Given the description of an element on the screen output the (x, y) to click on. 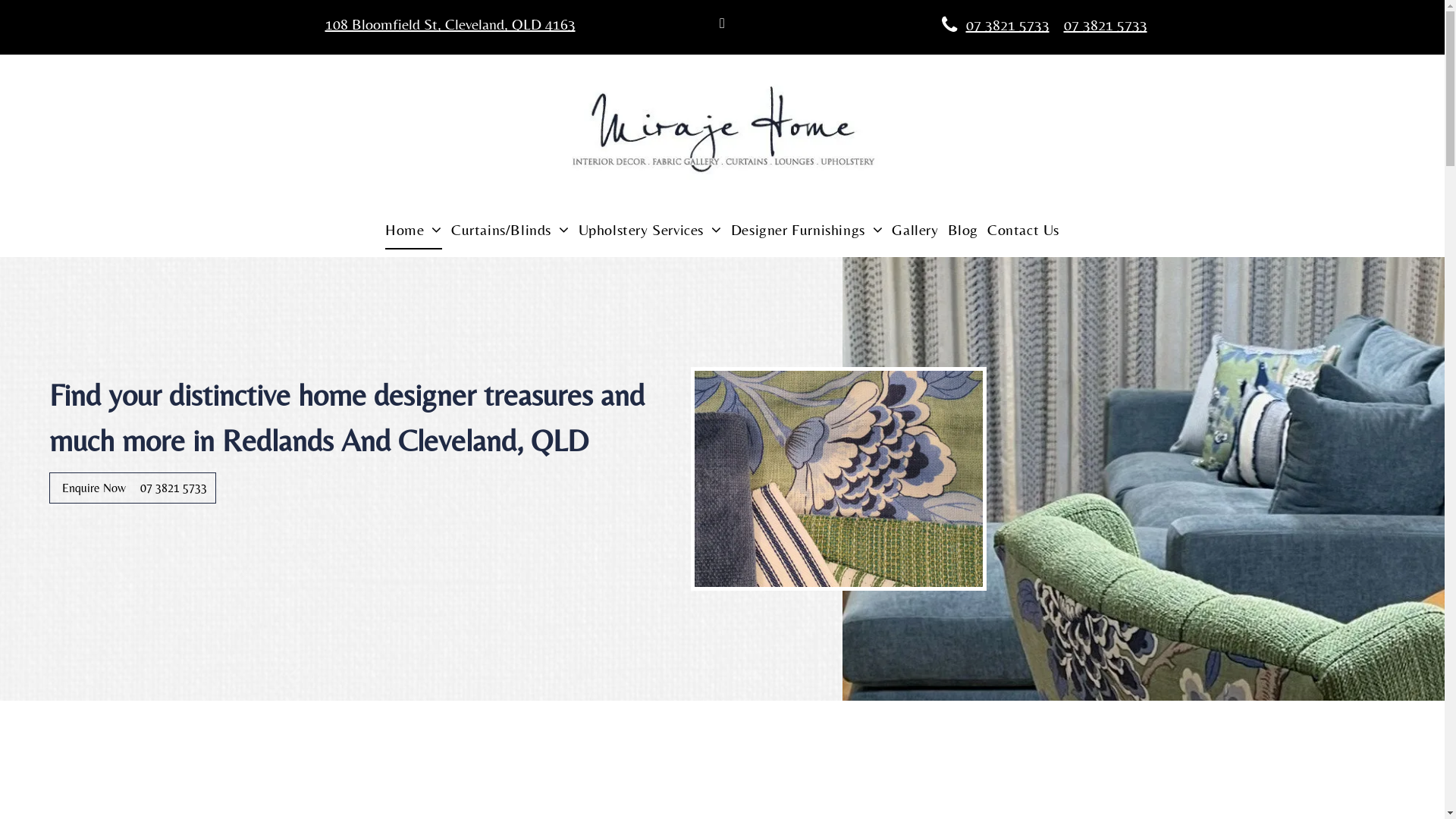
Curtains/Blinds Element type: text (510, 229)
Designer Furnishings Element type: text (807, 229)
Home Element type: text (413, 229)
Gallery Element type: text (914, 229)
Contact Us Element type: text (1022, 229)
Upholstery Services Element type: text (650, 229)
Blog Element type: text (962, 229)
108 Bloomfield St, Cleveland, QLD 4163 Element type: text (449, 23)
07 3821 5733 07 3821 5733 Element type: text (993, 24)
Enquire Now 07 3821 5733 Element type: text (132, 487)
Miraje Home Decor & Soft Furnishings Element type: hover (722, 136)
